Given the description of an element on the screen output the (x, y) to click on. 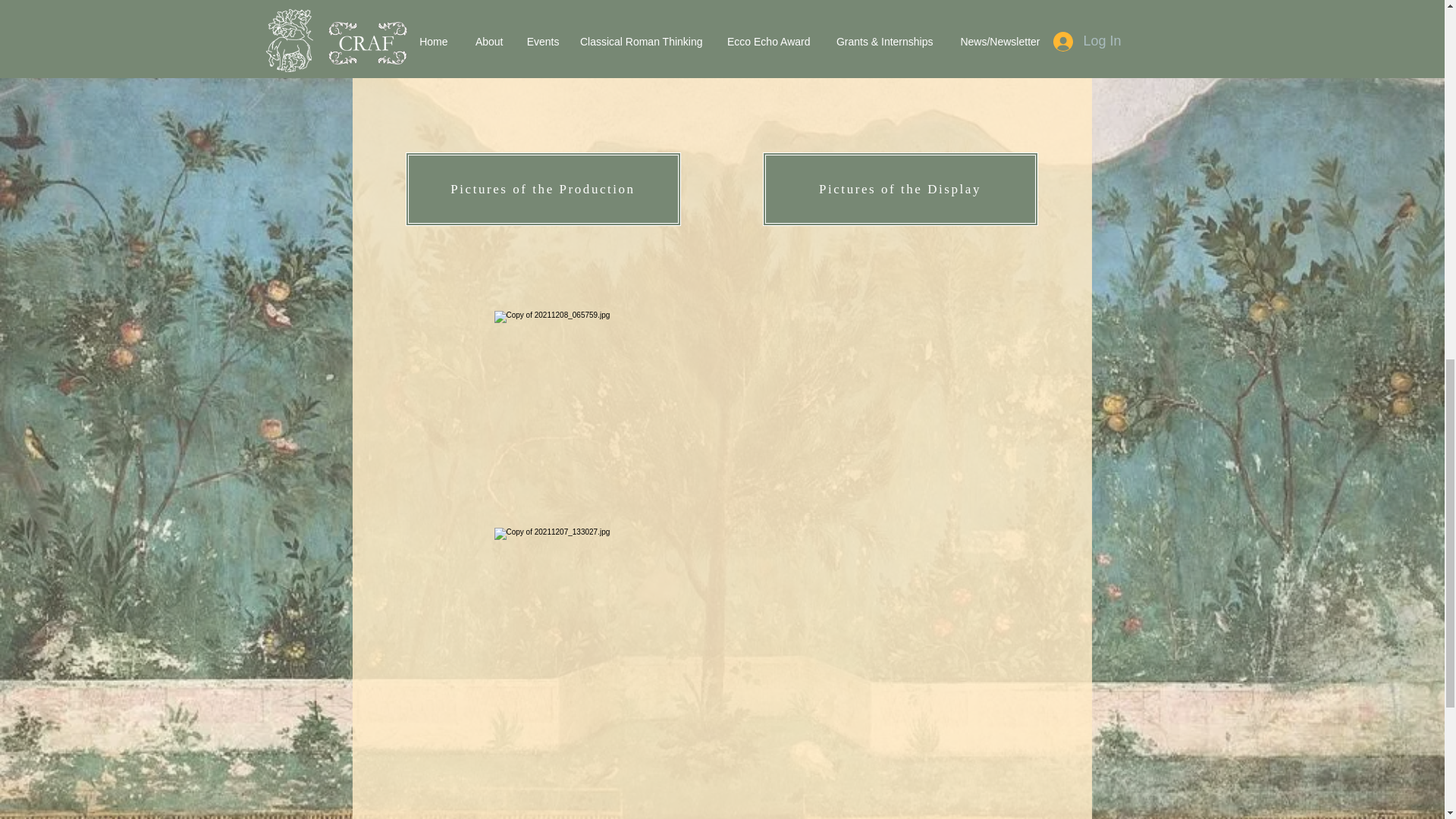
Pictures of the Production (541, 189)
Pictures of the Display (900, 189)
